Given the description of an element on the screen output the (x, y) to click on. 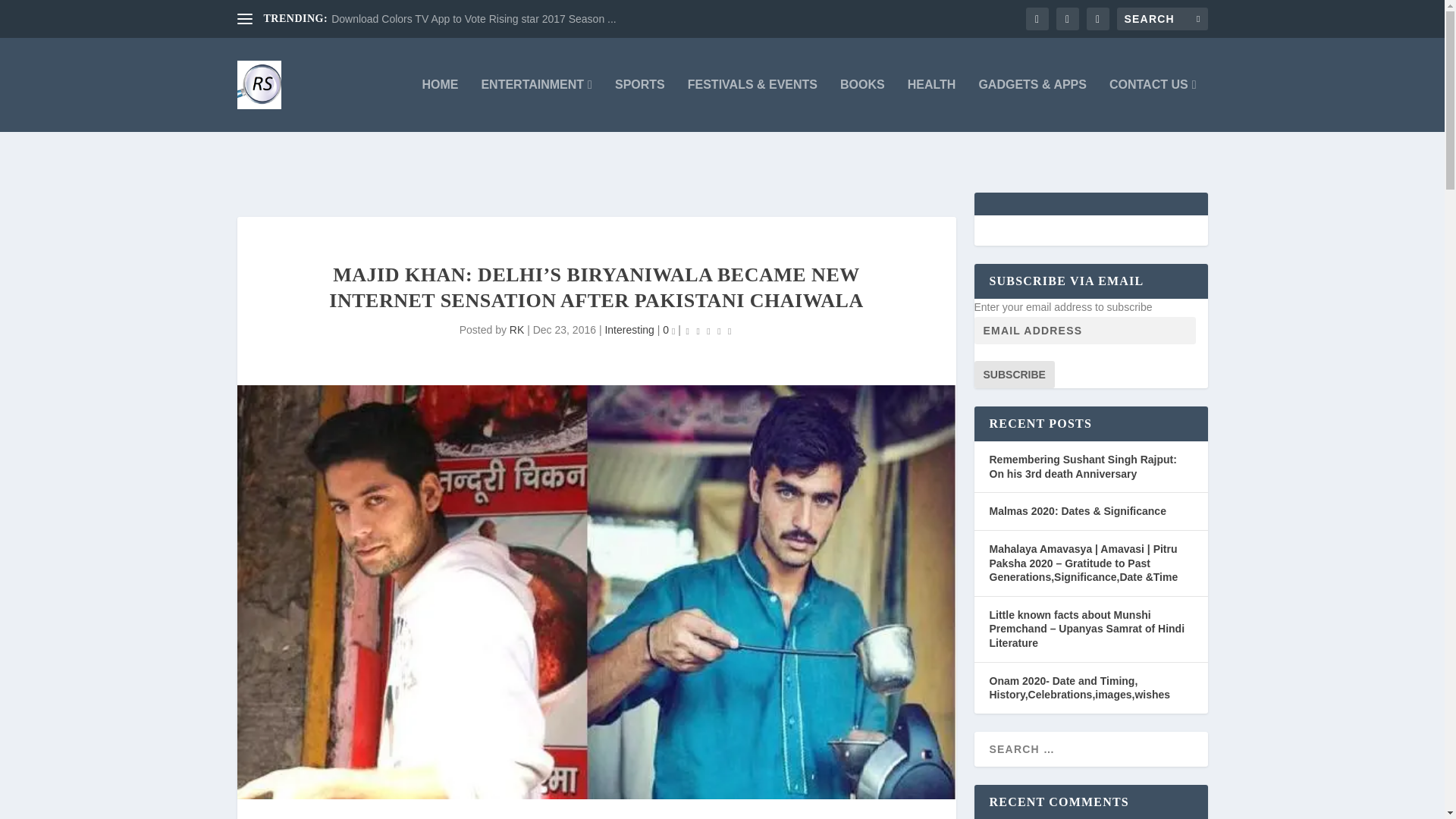
Rating: 0.00 (708, 330)
CONTACT US (1152, 104)
Download Colors TV App to Vote Rising star 2017 Season ... (473, 19)
Posts by RK (516, 329)
ENTERTAINMENT (536, 104)
SPORTS (639, 104)
HEALTH (931, 104)
Search for: (1161, 18)
